Given the description of an element on the screen output the (x, y) to click on. 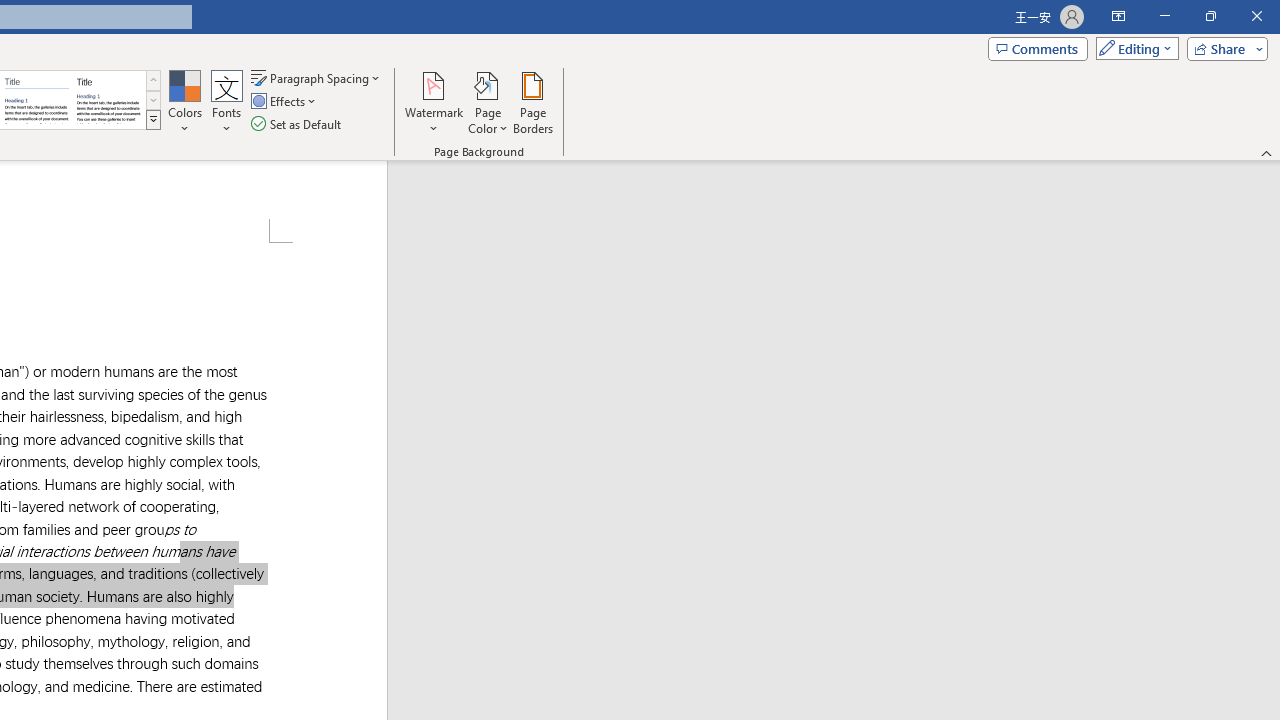
Paragraph Spacing (317, 78)
Colors (184, 102)
Effects (285, 101)
